Given the description of an element on the screen output the (x, y) to click on. 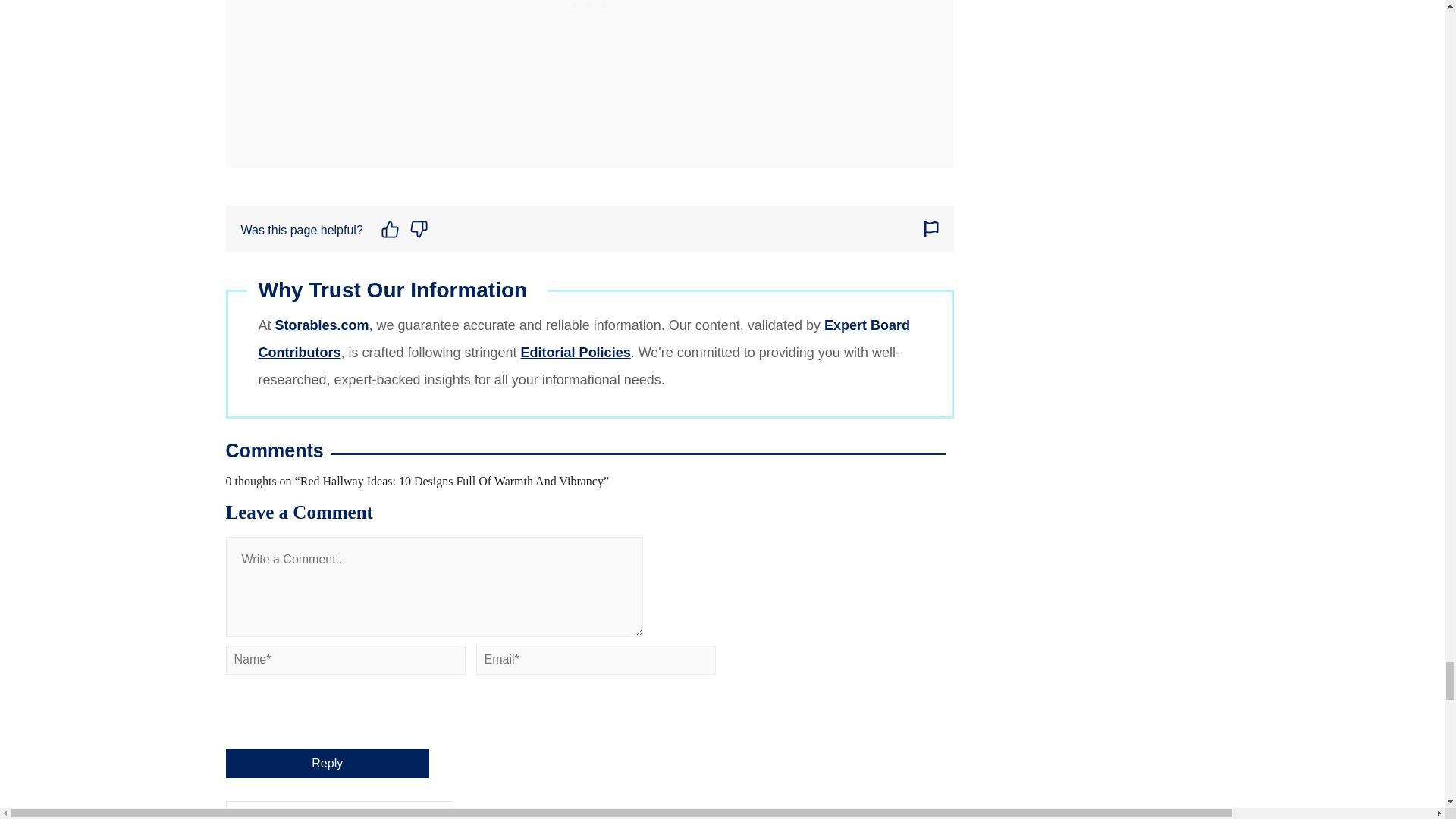
Reply (327, 763)
